Given the description of an element on the screen output the (x, y) to click on. 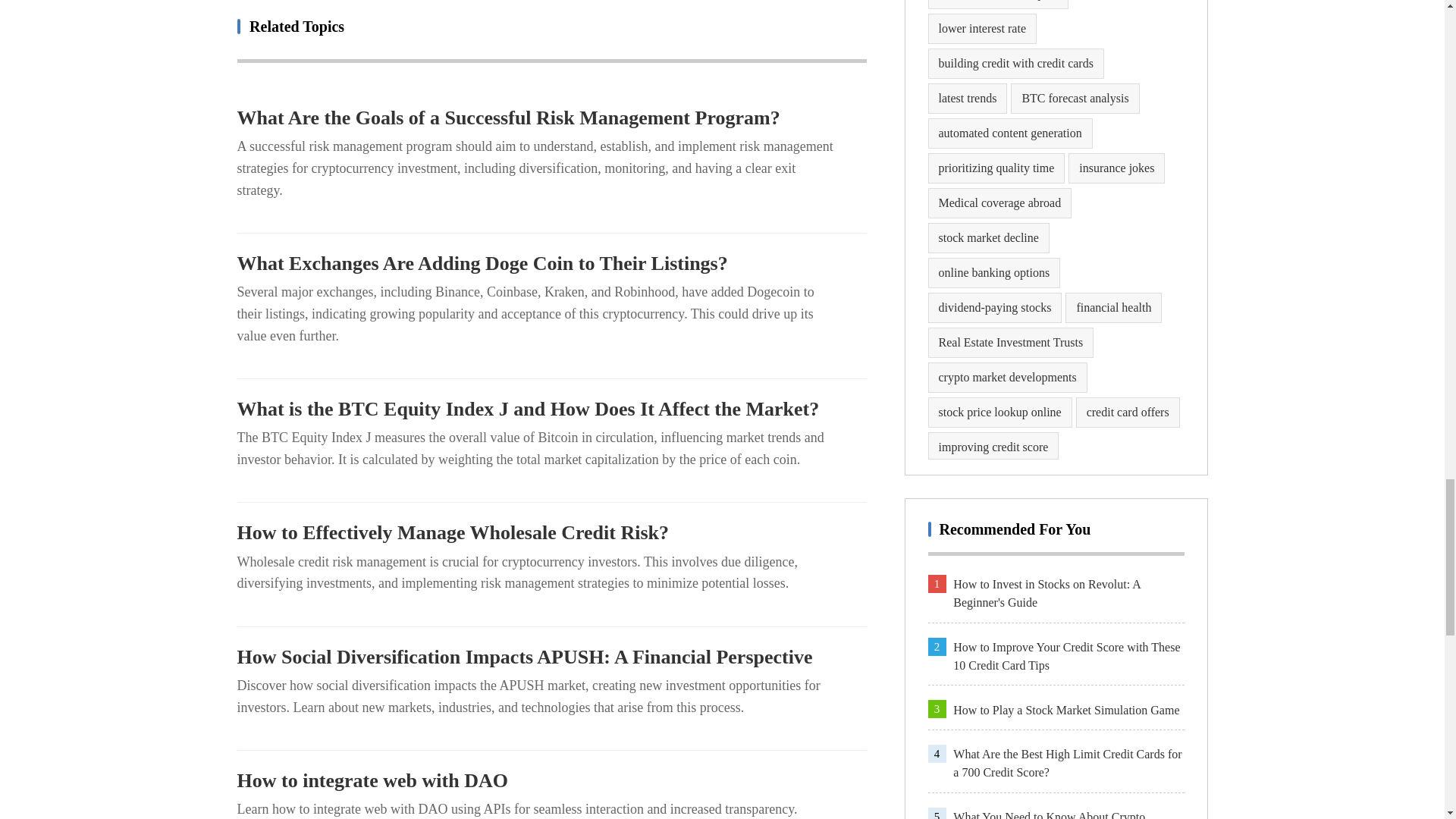
How to integrate web with DAO (550, 780)
How to Effectively Manage Wholesale Credit Risk? (550, 532)
What Are the Goals of a Successful Risk Management Program? (550, 118)
What Exchanges Are Adding Doge Coin to Their Listings? (550, 263)
How to integrate web with DAO (550, 780)
How to Effectively Manage Wholesale Credit Risk? (550, 532)
What Exchanges Are Adding Doge Coin to Their Listings? (550, 263)
What Are the Goals of a Successful Risk Management Program? (550, 118)
